Given the description of an element on the screen output the (x, y) to click on. 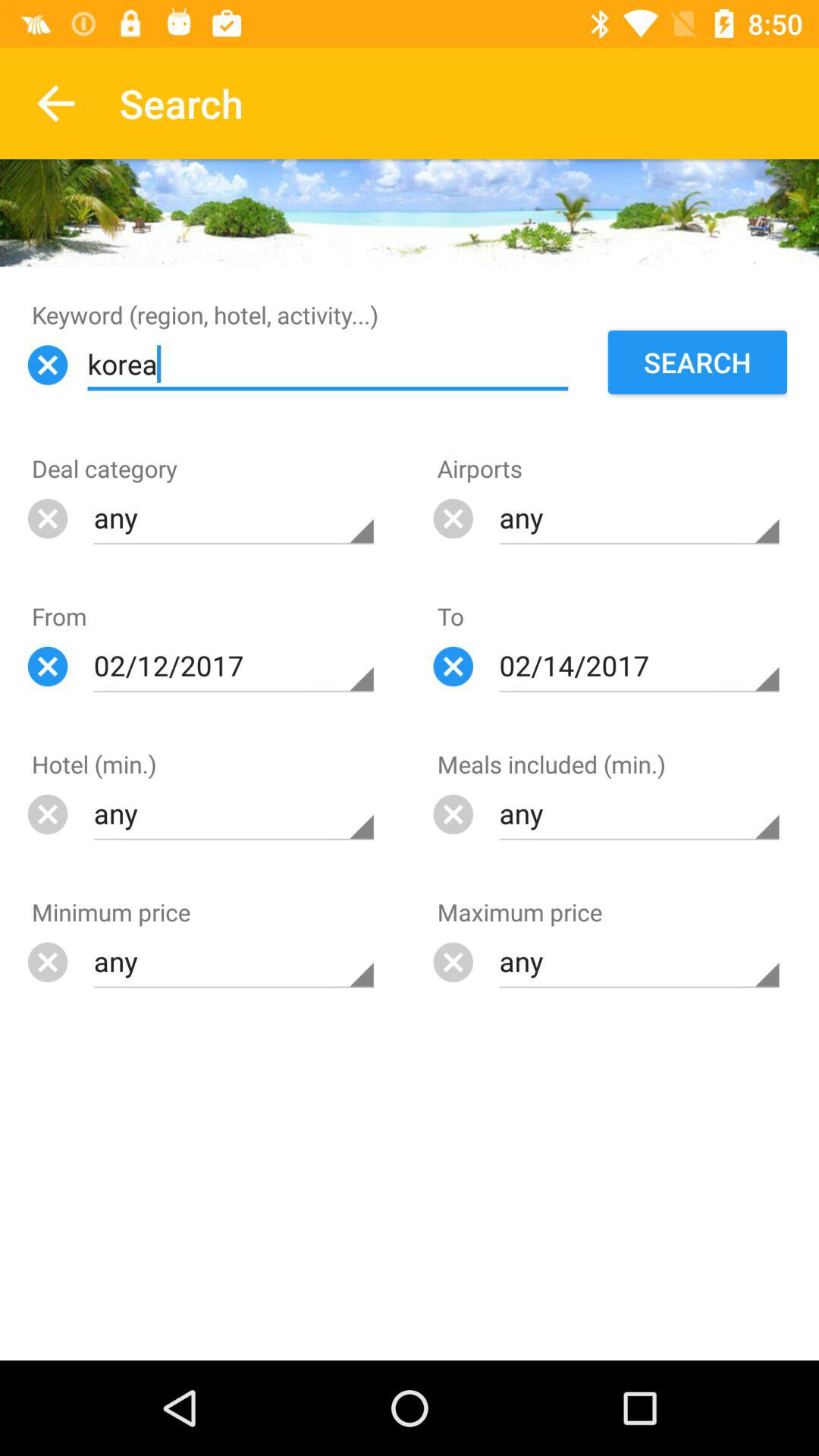
click on search (697, 362)
click on any field which is below hotel min (233, 813)
